Given the description of an element on the screen output the (x, y) to click on. 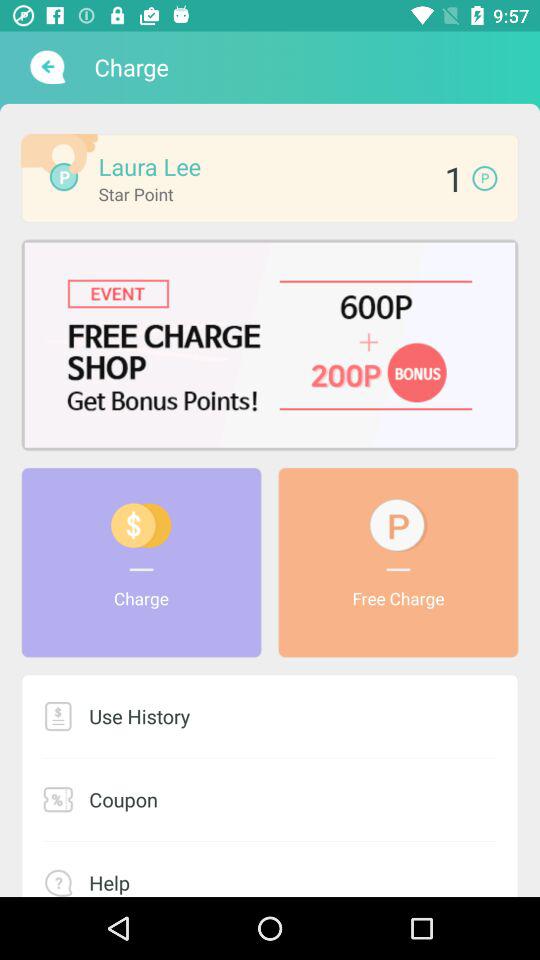
launch the item to the left of charge item (45, 67)
